Given the description of an element on the screen output the (x, y) to click on. 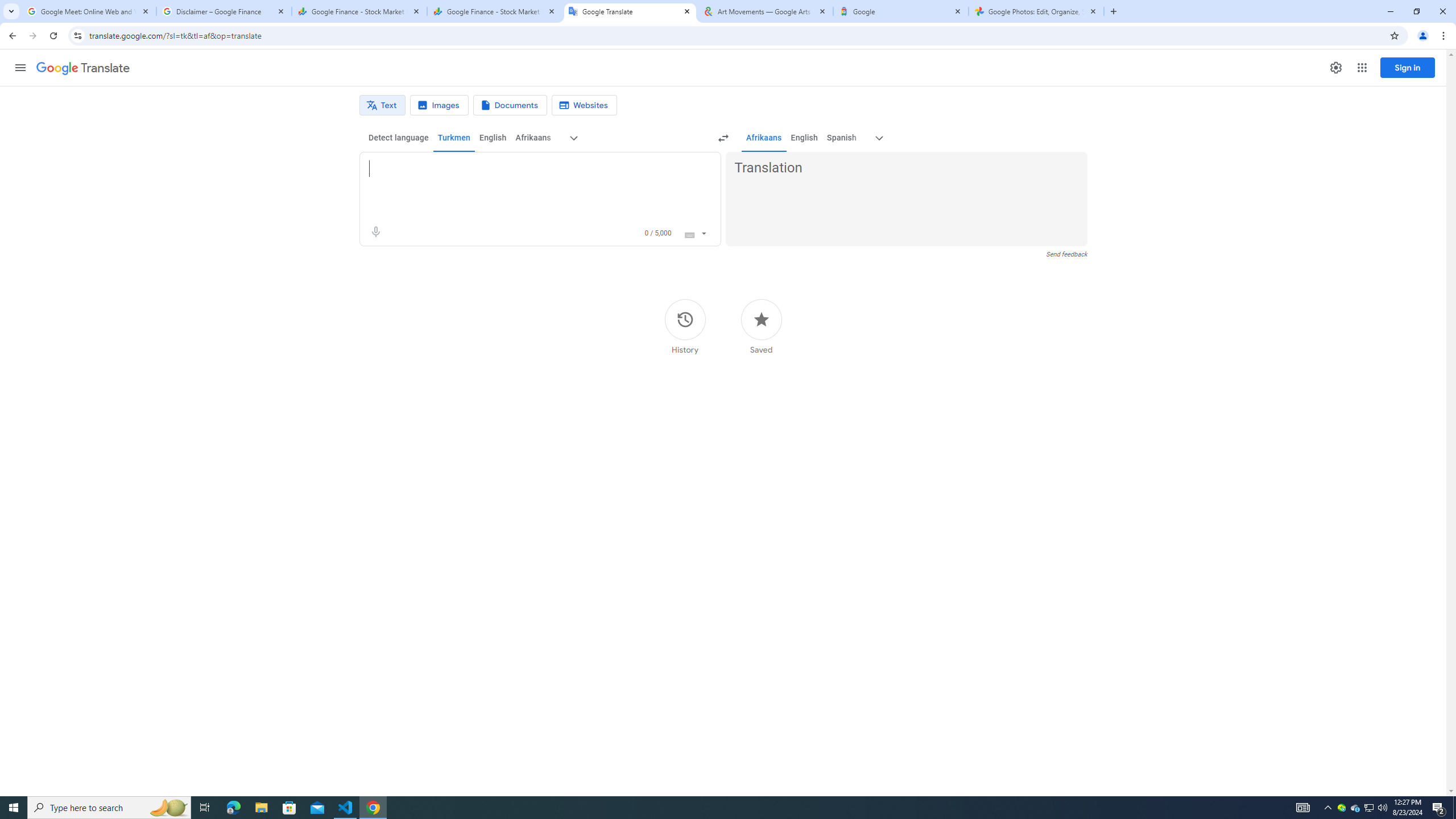
Afrikaans (763, 137)
Document translation (510, 105)
